Given the description of an element on the screen output the (x, y) to click on. 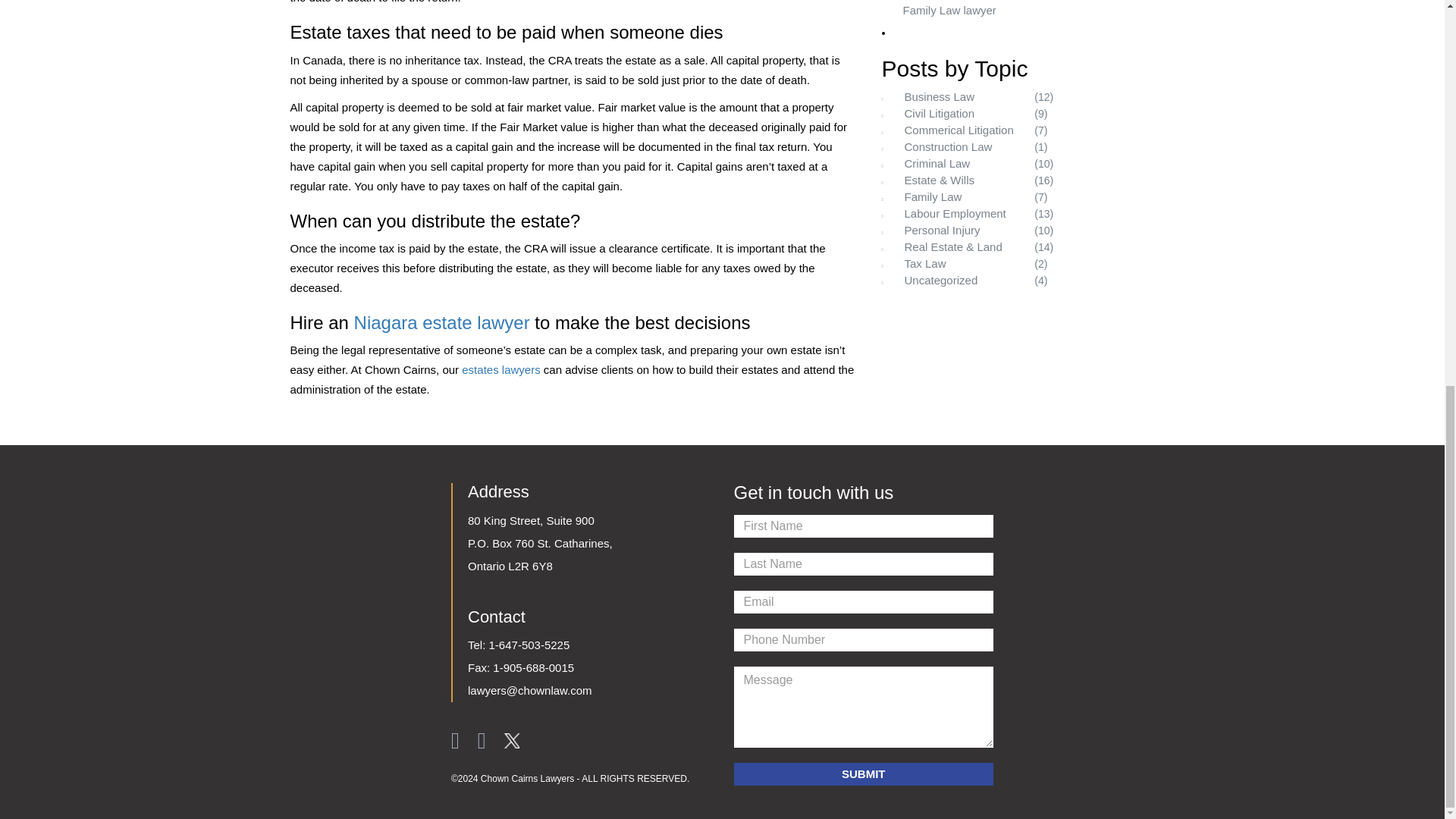
estates lawyers (500, 369)
Commerical Litigation (955, 130)
Civil Litigation (955, 113)
Business Law (955, 96)
Construction Law (955, 146)
Niagara estate lawyer (441, 322)
Criminal Law (955, 163)
submit (863, 773)
